Given the description of an element on the screen output the (x, y) to click on. 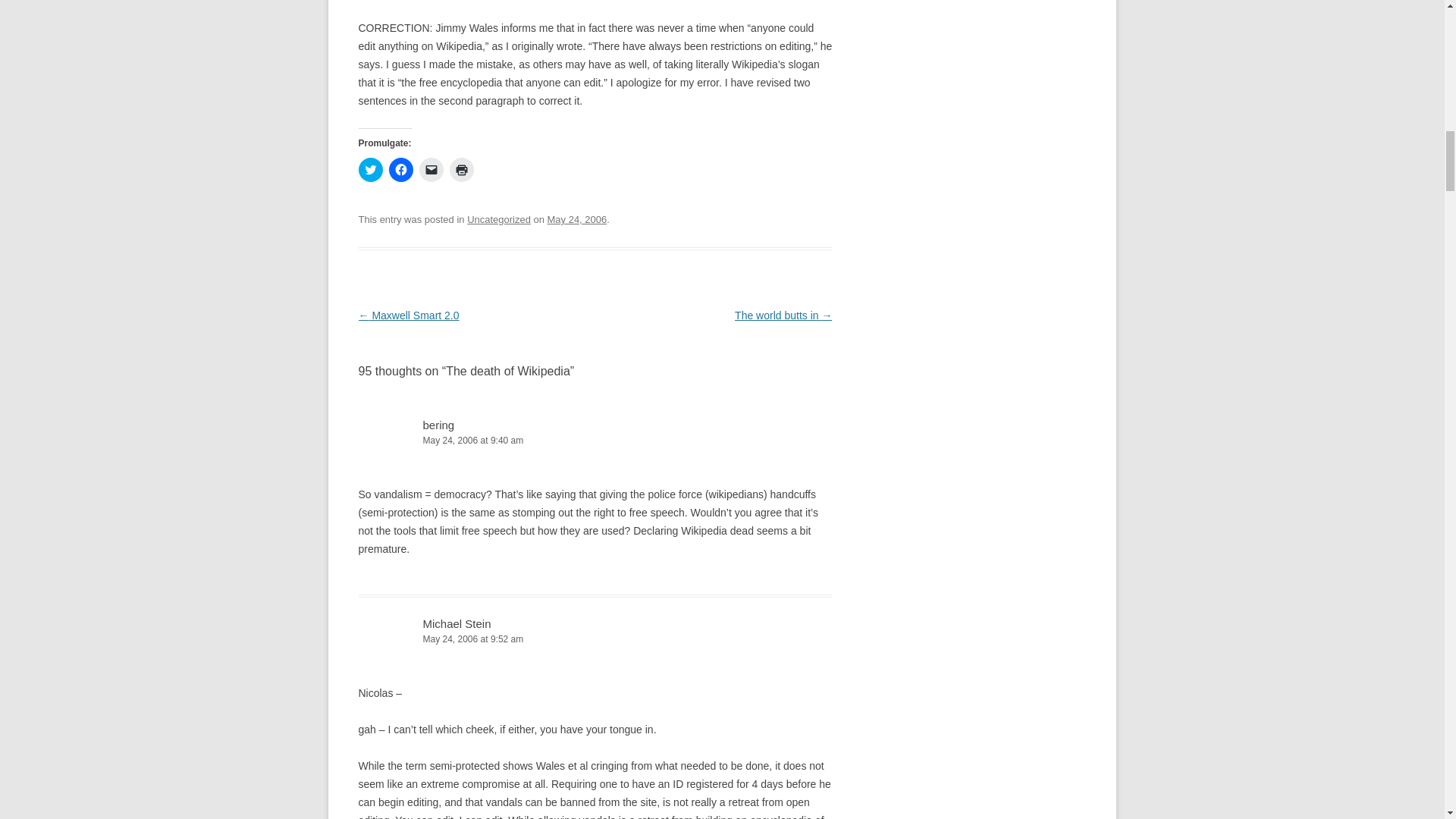
May 24, 2006 at 9:40 am (594, 440)
Click to email a link to a friend (430, 169)
May 24, 2006 (577, 219)
9:12 am (577, 219)
May 24, 2006 at 9:52 am (594, 639)
bering (438, 424)
Uncategorized (499, 219)
Michael Stein (457, 623)
Click to print (460, 169)
Click to share on Facebook (400, 169)
Click to share on Twitter (369, 169)
